Given the description of an element on the screen output the (x, y) to click on. 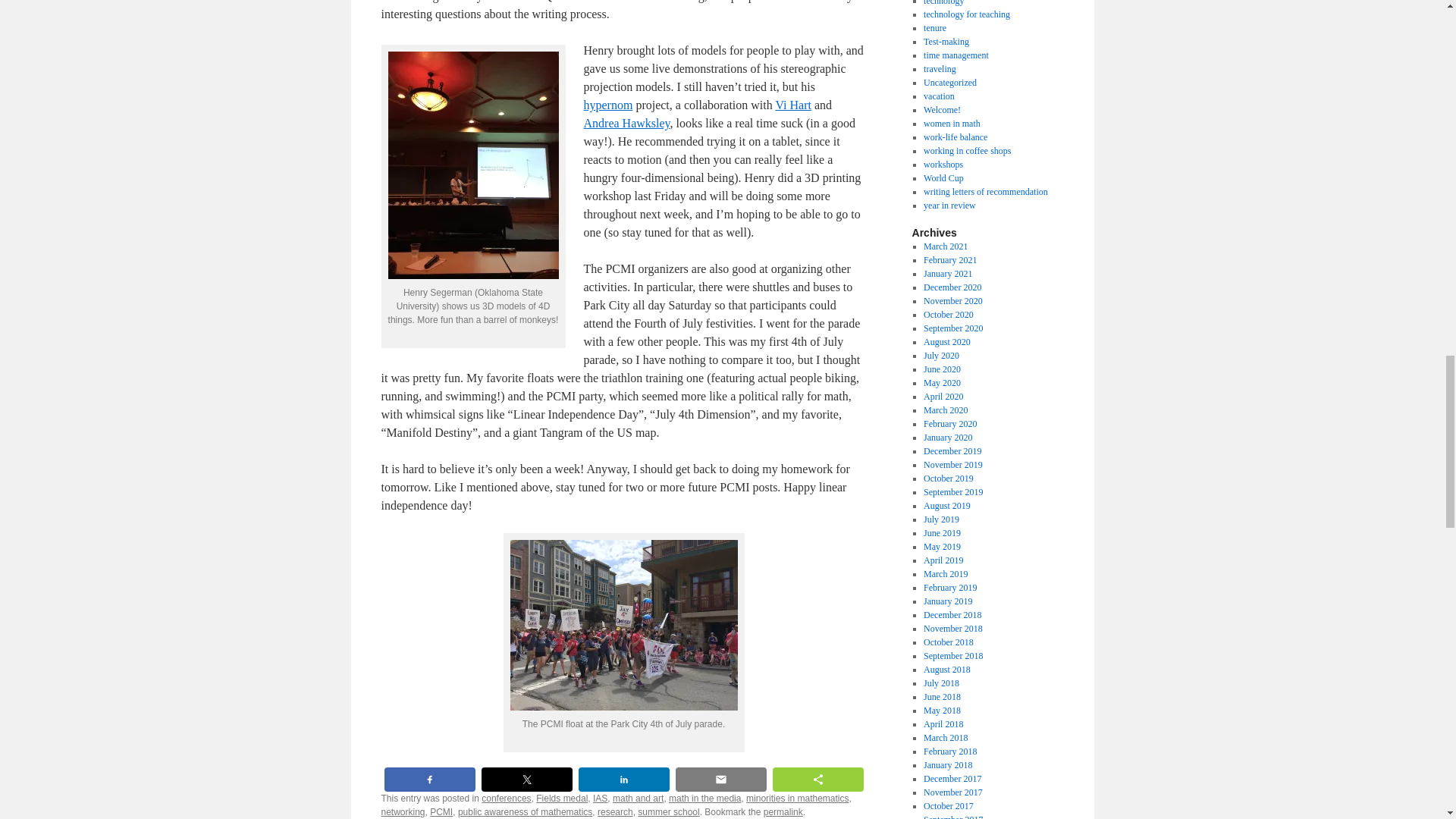
conferences (506, 798)
Fields medal (561, 798)
minorities in mathematics (796, 798)
IAS (599, 798)
networking (402, 811)
public awareness of mathematics (525, 811)
PCMI (440, 811)
hypernom (608, 104)
Vi Hart (792, 104)
Andrea Hawksley (626, 123)
